Given the description of an element on the screen output the (x, y) to click on. 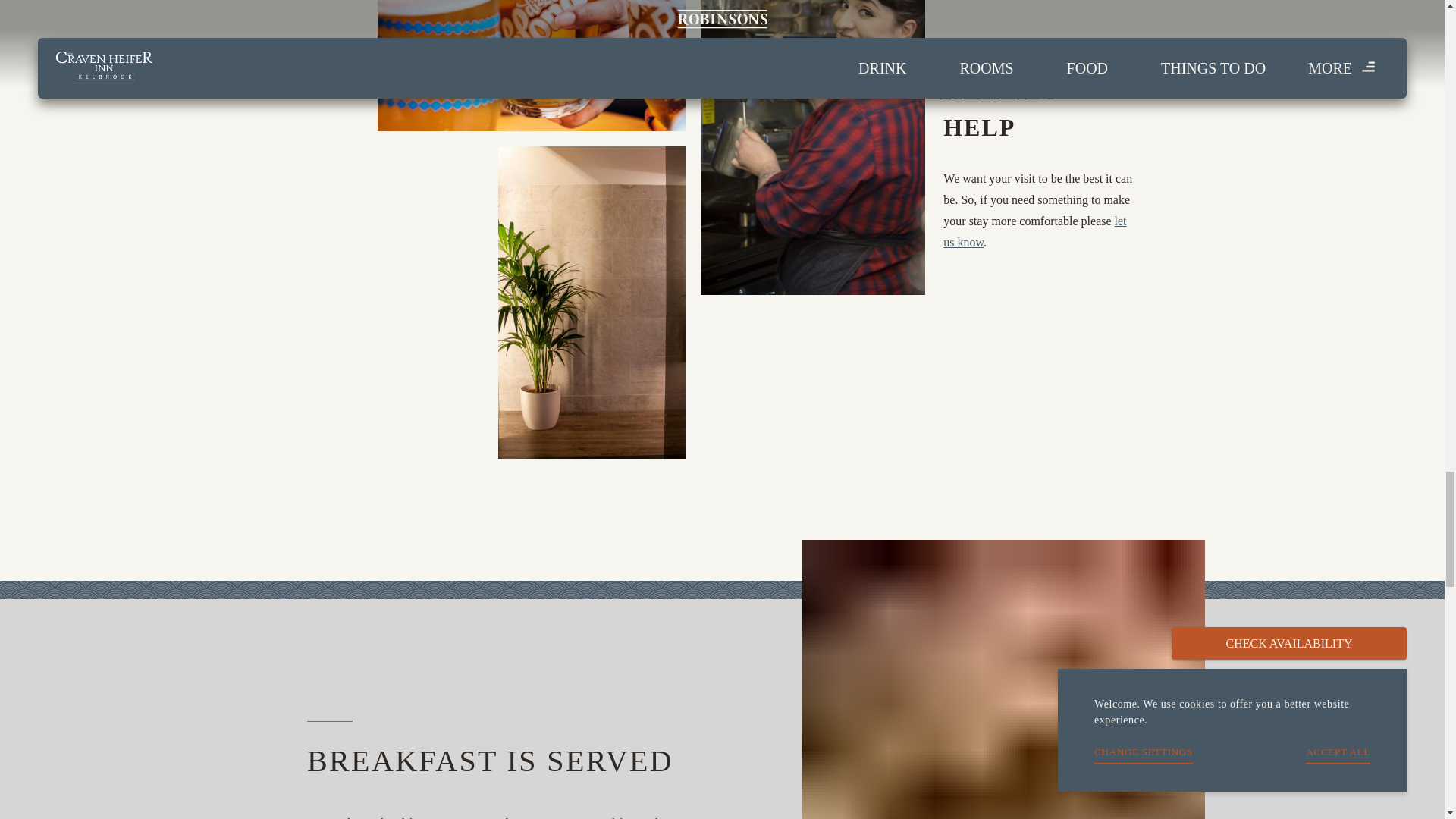
let us know (1034, 231)
